Given the description of an element on the screen output the (x, y) to click on. 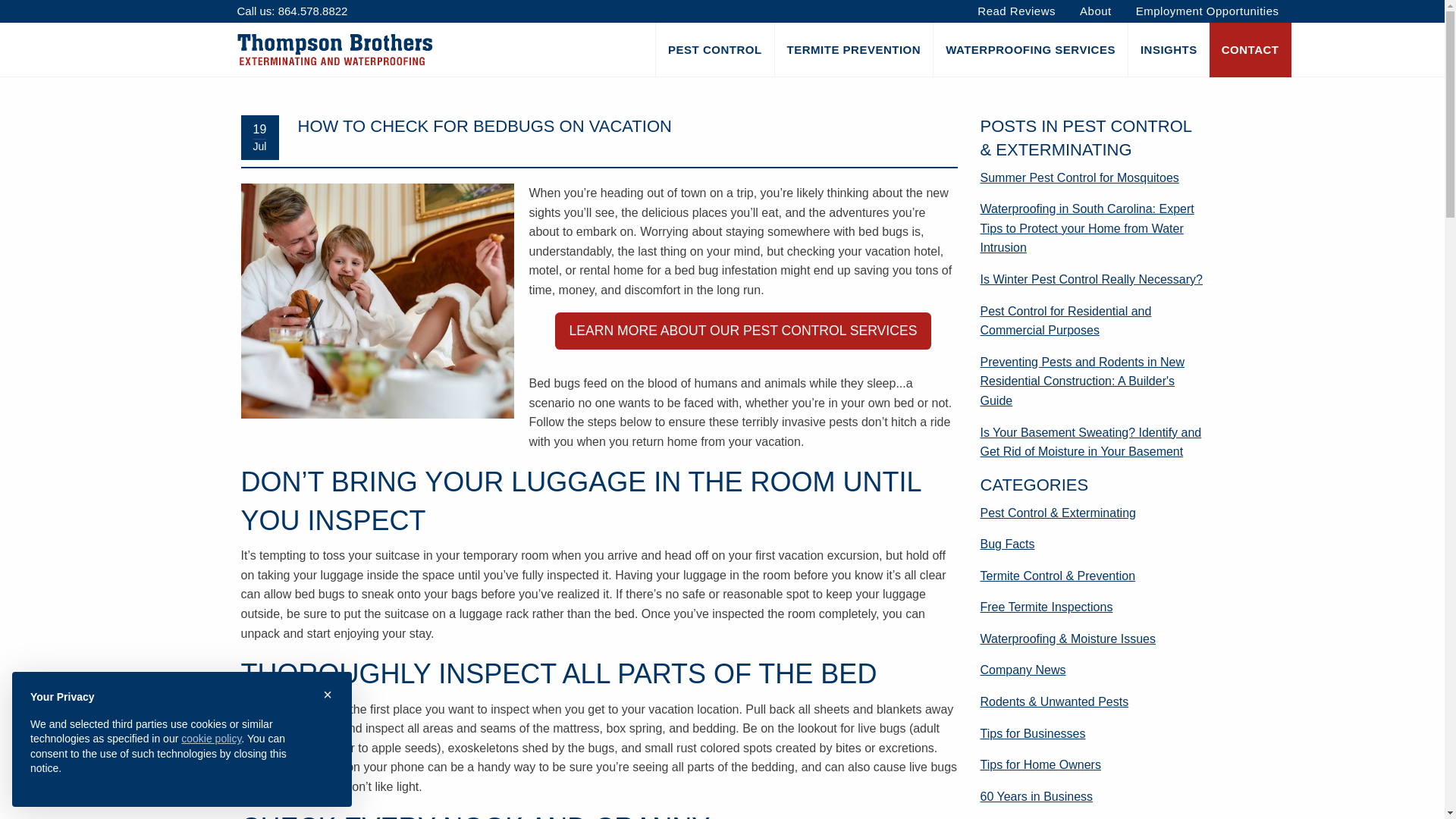
Pest Control for Residential and Commercial Purposes (1065, 320)
Employment Opportunities (1207, 11)
Company News (1022, 669)
TERMITE PREVENTION (853, 49)
About (1095, 11)
LEARN MORE ABOUT OUR PEST CONTROL SERVICES (742, 331)
PEST CONTROL (714, 49)
Is Winter Pest Control Really Necessary? (1090, 278)
CONTACT (1250, 49)
Bug Facts (1006, 543)
864.578.8822 (312, 12)
WATERPROOFING SERVICES (1029, 49)
Thompson Brothers (333, 49)
